Given the description of an element on the screen output the (x, y) to click on. 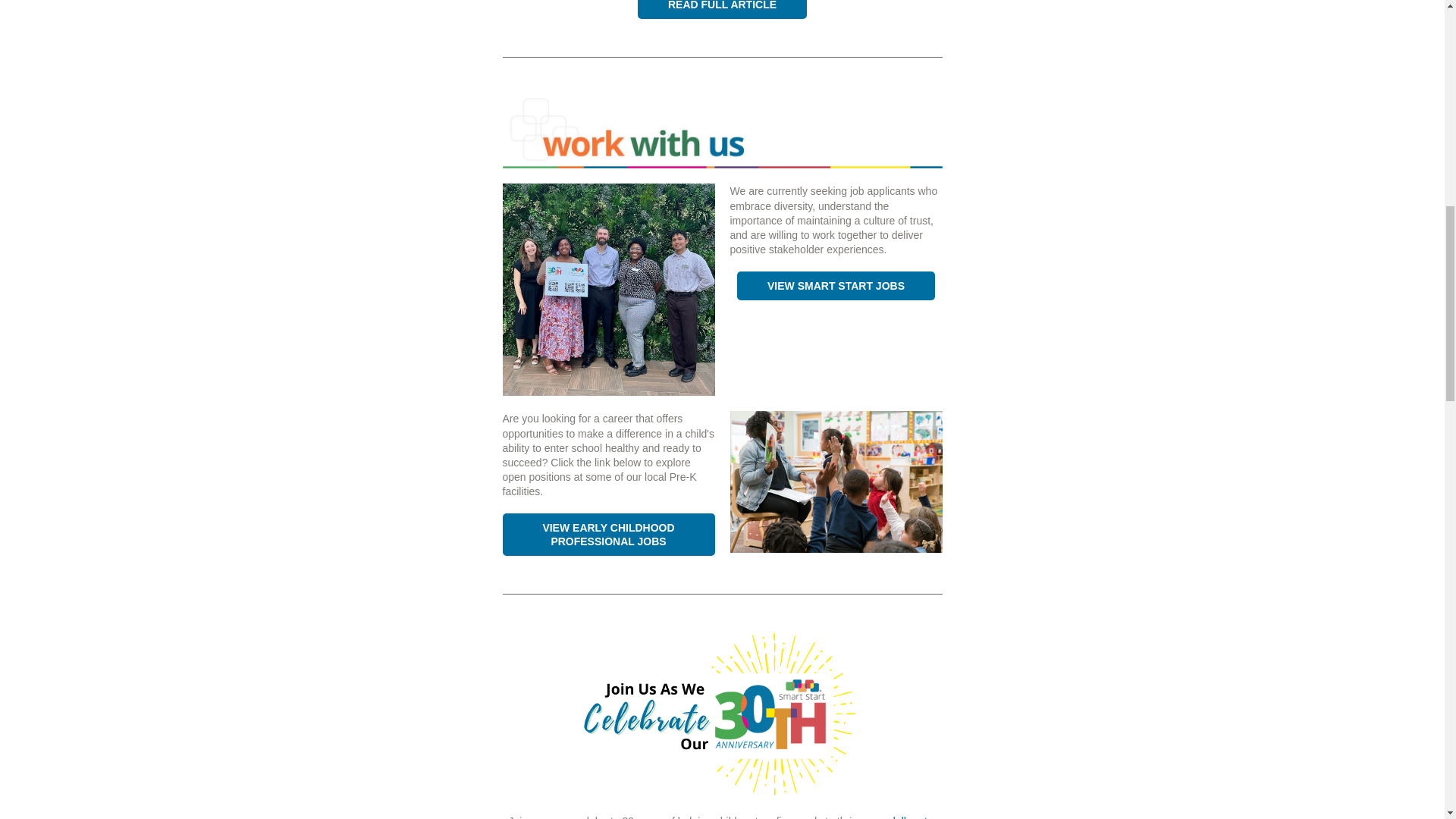
VIEW EARLY CHILDHOOD PROFESSIONAL JOBS (607, 534)
READ FULL ARTICLE (722, 5)
VIEW SMART START JOBS (835, 285)
